Given the description of an element on the screen output the (x, y) to click on. 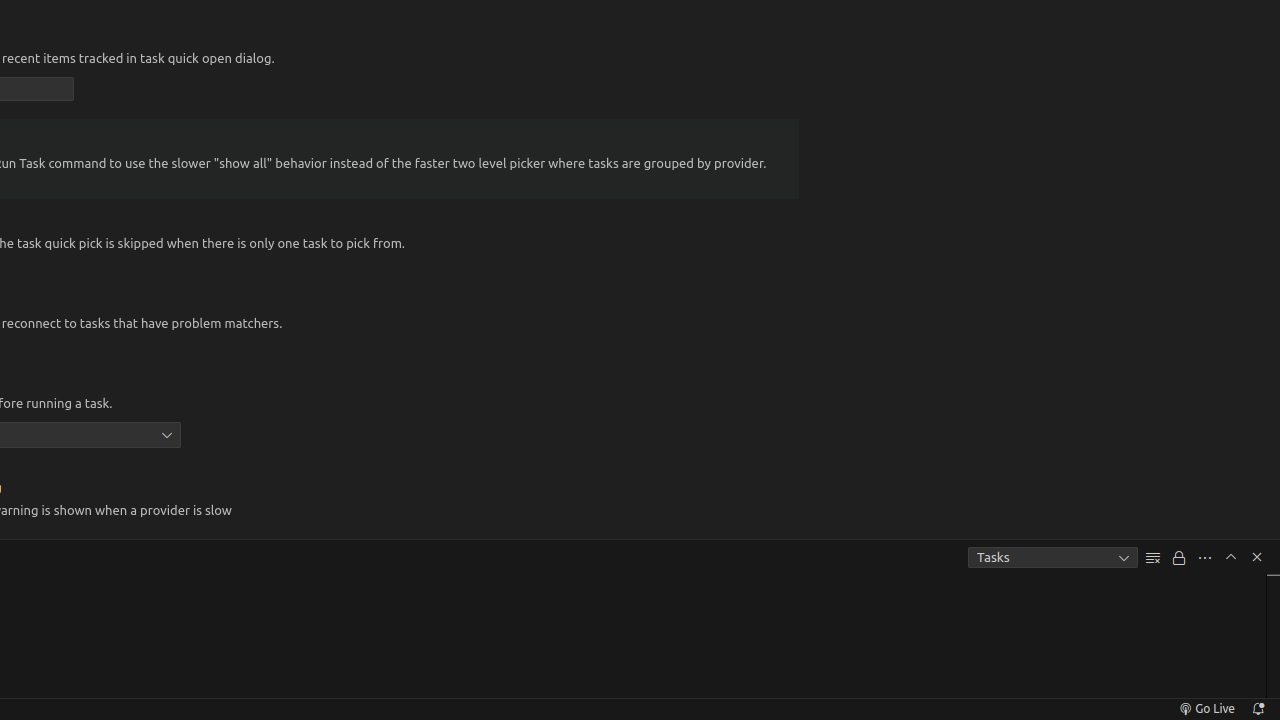
Hide Panel Element type: push-button (1257, 557)
Tasks Element type: menu-item (1053, 557)
Clear Output Element type: push-button (1153, 557)
